Given the description of an element on the screen output the (x, y) to click on. 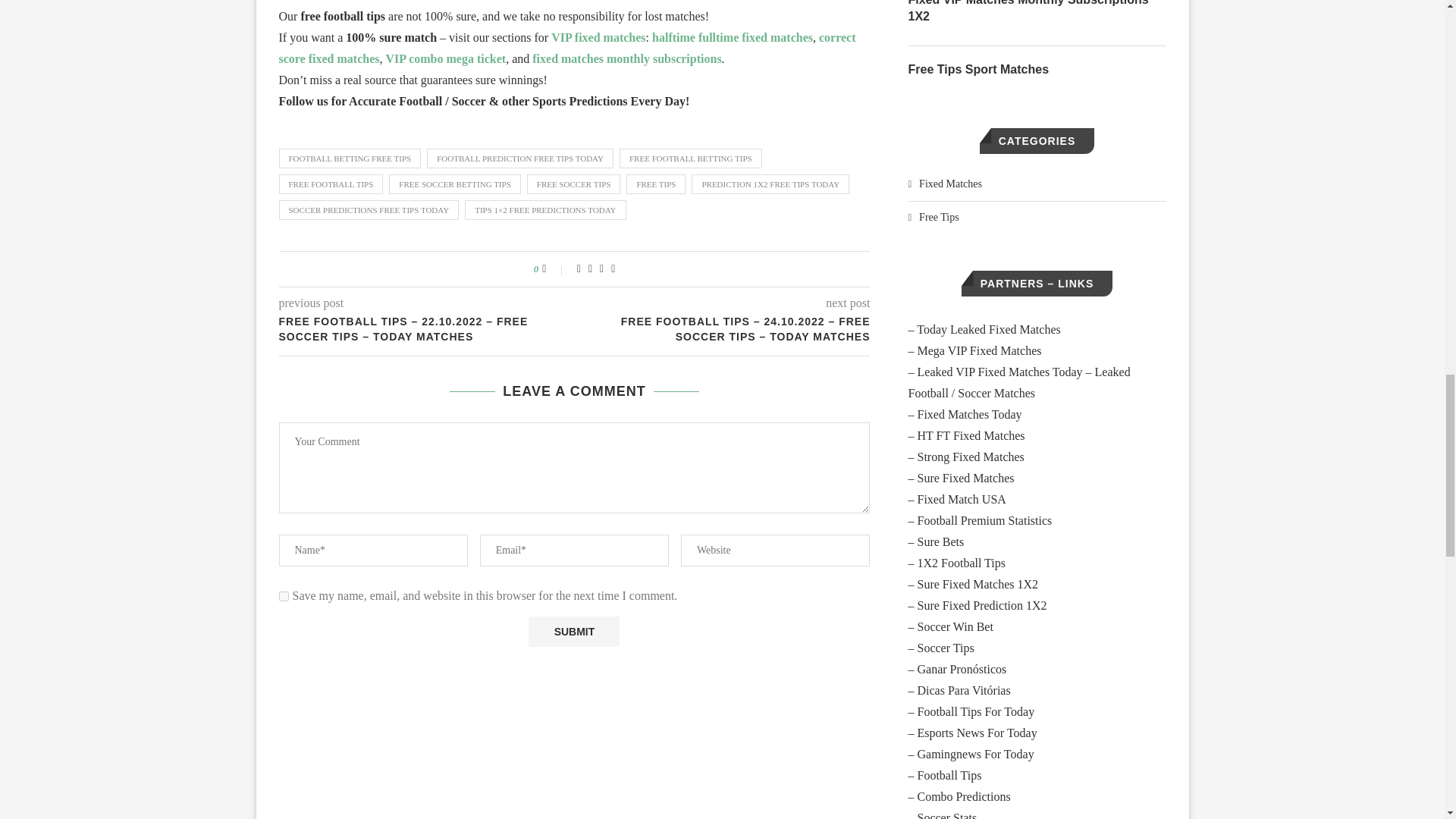
fixed matches monthly subscriptions (626, 58)
yes (283, 596)
FREE FOOTBALL BETTING TIPS (690, 158)
FREE FOOTBALL TIPS (331, 184)
VIP fixed matches (598, 37)
FREE SOCCER TIPS (574, 184)
correct score fixed matches (567, 48)
Like (553, 268)
fixed matches monthly subscriptions (626, 58)
FREE TIPS (655, 184)
FOOTBALL BETTING FREE TIPS (350, 158)
FREE SOCCER BETTING TIPS (453, 184)
halftime fulltime fixed matches (732, 37)
VIP combo mega ticket (445, 58)
VIP Fixed Matches (598, 37)
